Given the description of an element on the screen output the (x, y) to click on. 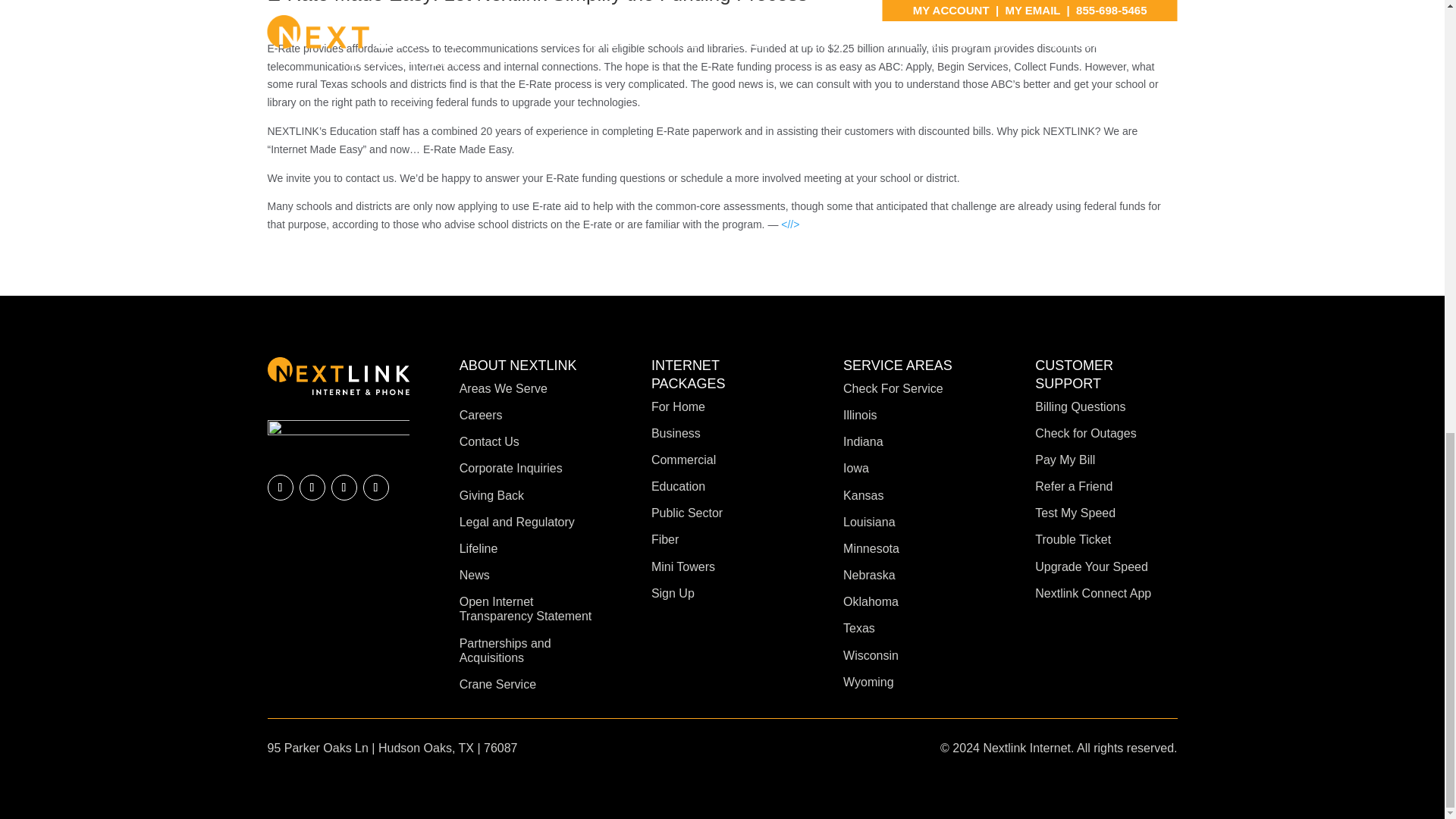
nextlink-internet-and-phone-logo (337, 375)
BBB (337, 434)
Follow on LinkedIn (311, 487)
Follow on Instagram (375, 487)
Follow on X (343, 487)
Follow on Facebook (279, 487)
